Given the description of an element on the screen output the (x, y) to click on. 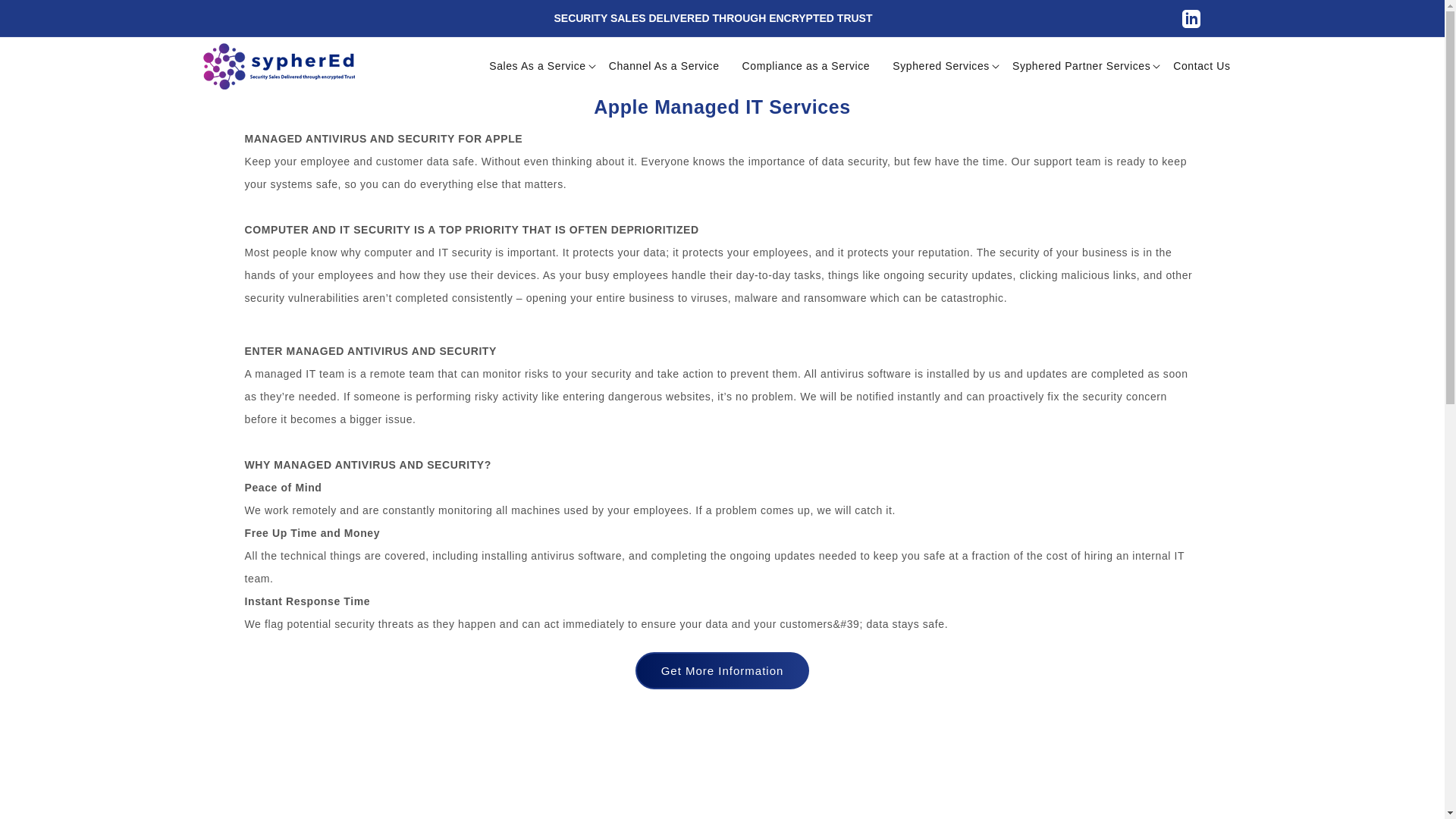
Skip to content (45, 17)
Channel As a Service (663, 65)
TikTok (1189, 18)
TIKTOK (1189, 18)
Skip to content (45, 17)
Compliance as a Service (806, 65)
